Given the description of an element on the screen output the (x, y) to click on. 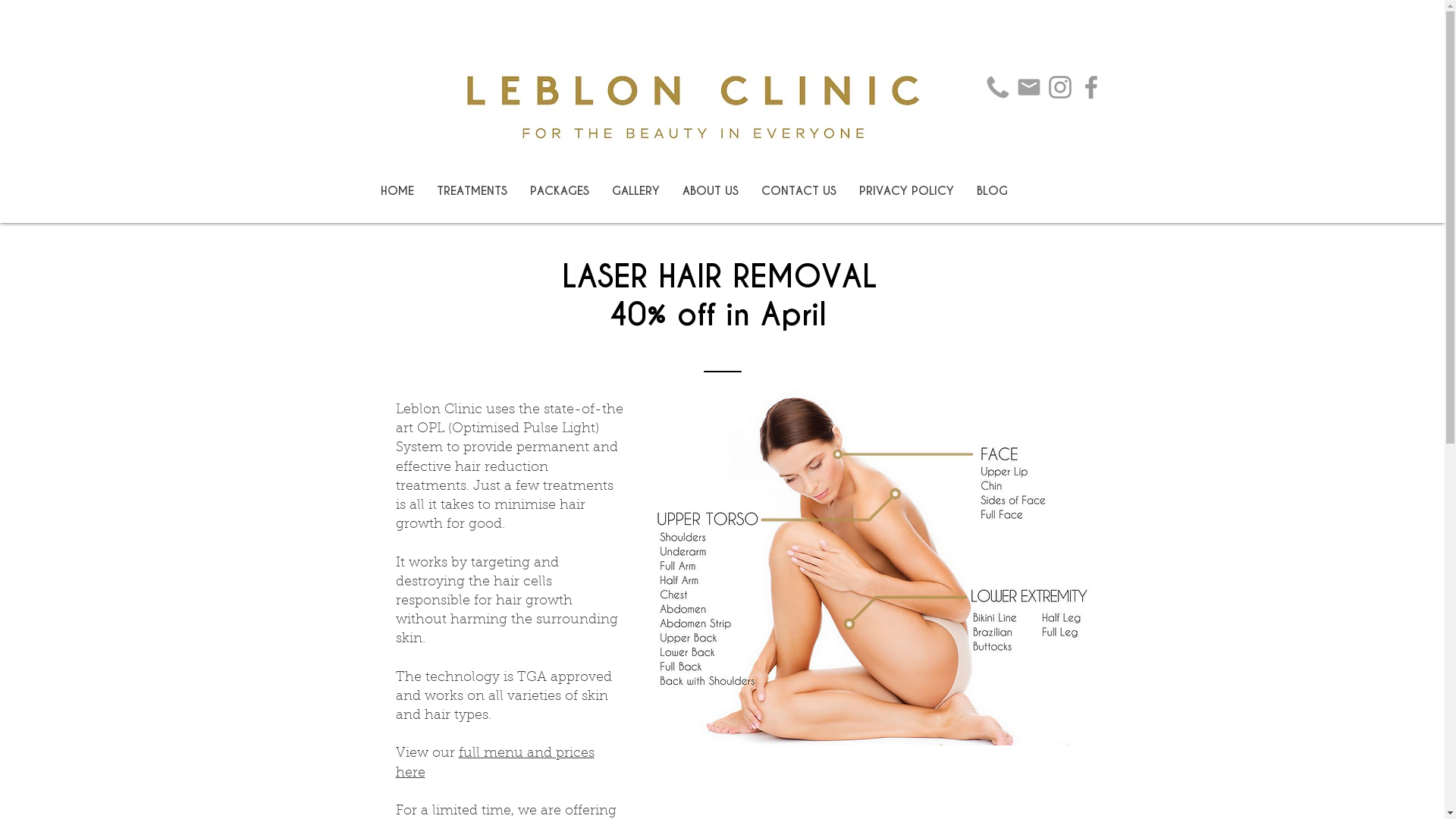
BLOG Element type: text (991, 191)
PACKAGES Element type: text (559, 191)
TREATMENTS Element type: text (470, 191)
PRIVACY POLICY Element type: text (906, 191)
GALLERY Element type: text (635, 191)
Screen Shot 2018-07-13 at 1.23.57 pm.png Element type: hover (872, 566)
CONTACT US Element type: text (798, 191)
full menu and prices here Element type: text (494, 762)
ABOUT US Element type: text (709, 191)
HOME Element type: text (396, 191)
